Given the description of an element on the screen output the (x, y) to click on. 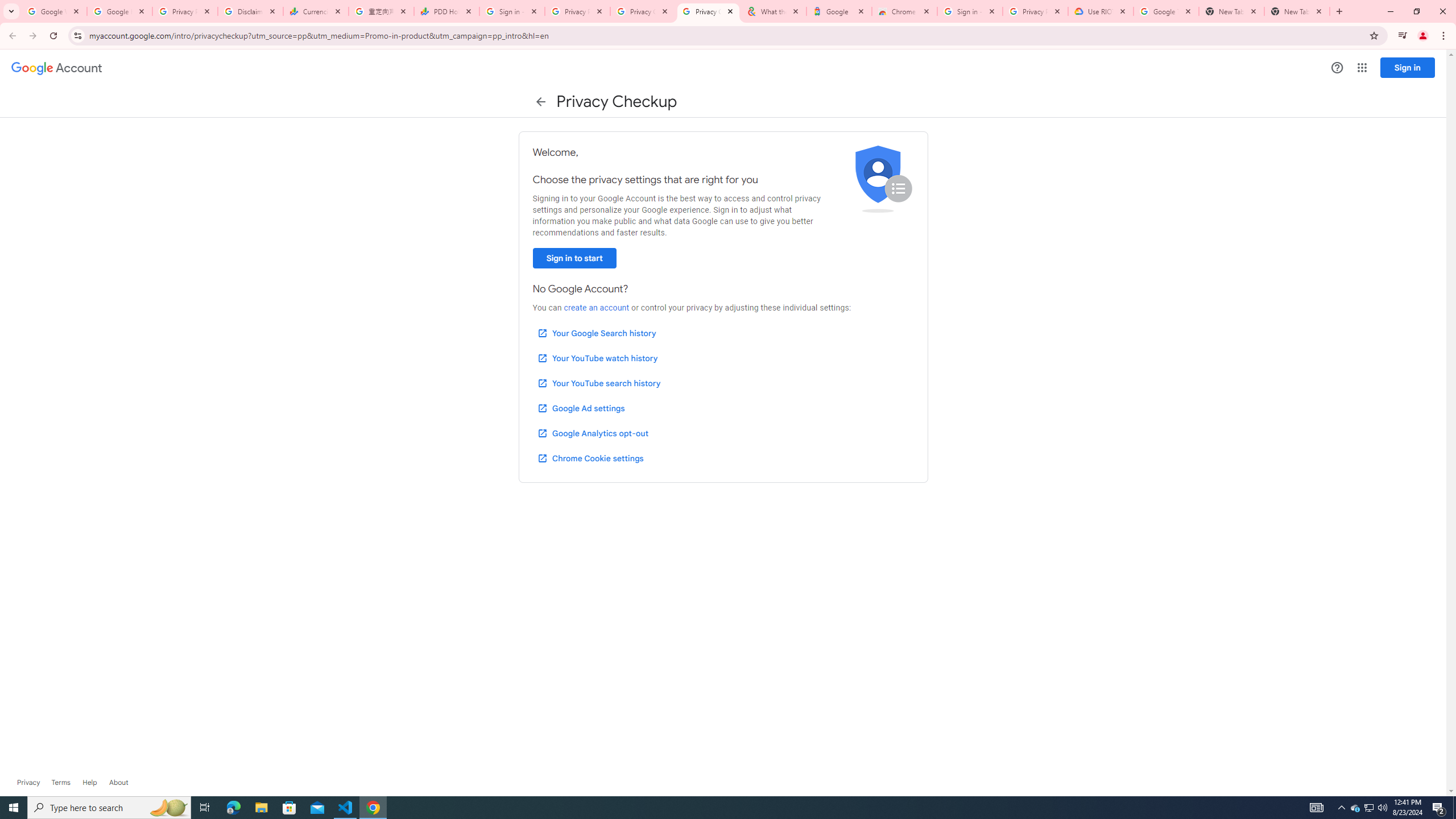
Chrome Web Store - Color themes by Chrome (904, 11)
Google Ad settings (580, 408)
Currencies - Google Finance (315, 11)
Sign in to start (573, 258)
Chrome Cookie settings (589, 457)
Sign in - Google Accounts (512, 11)
PDD Holdings Inc - ADR (PDD) Price & News - Google Finance (446, 11)
